Given the description of an element on the screen output the (x, y) to click on. 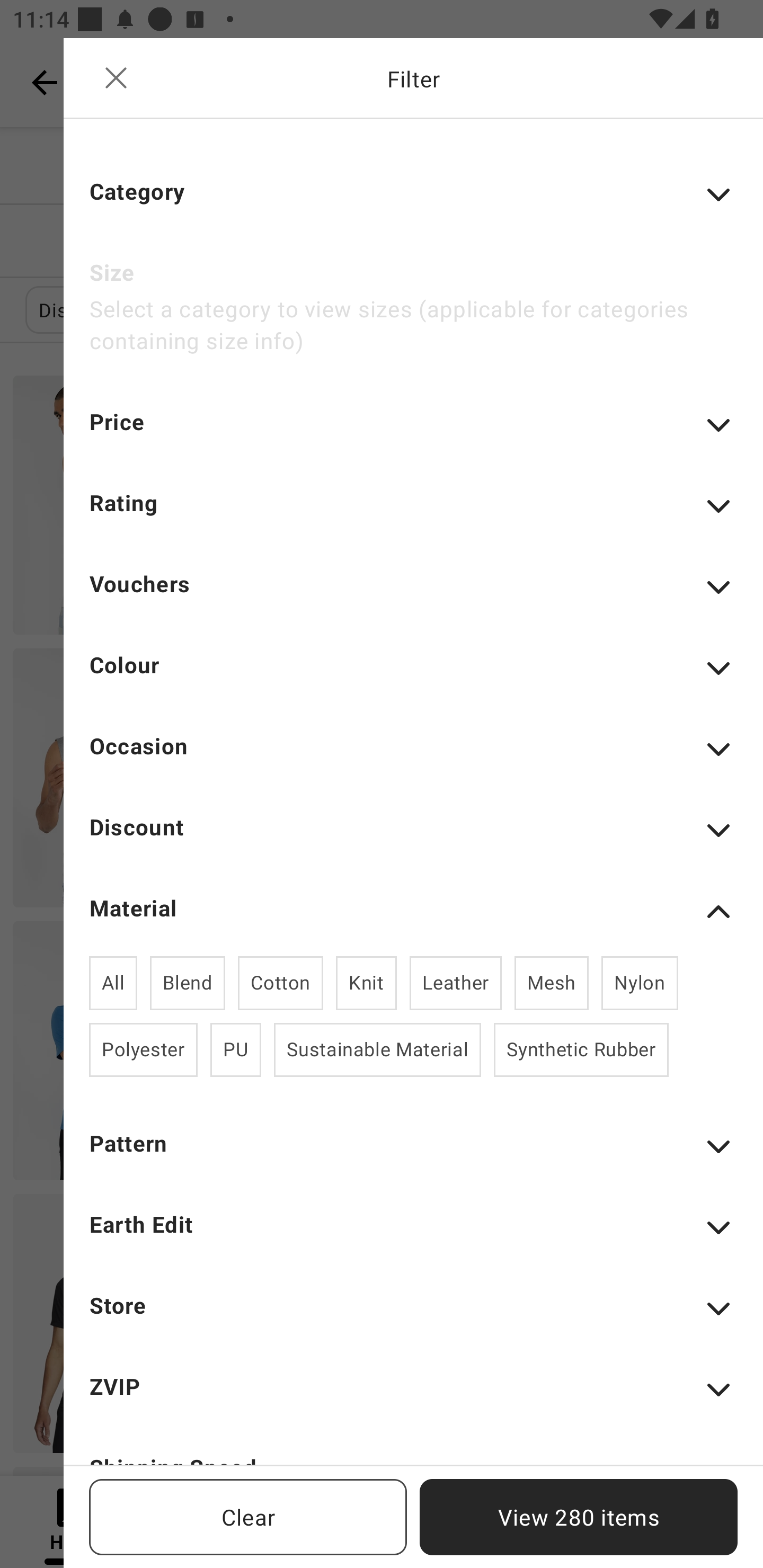
Category (413, 203)
Price (413, 434)
Rating (413, 514)
Vouchers (413, 595)
Colour (413, 677)
Occasion (413, 757)
Discount (413, 839)
Material (413, 911)
All (113, 982)
Blend (187, 982)
Cotton (280, 982)
Knit (365, 982)
Leather (455, 982)
Mesh (551, 982)
Nylon (639, 982)
Polyester (143, 1049)
PU (235, 1049)
Sustainable Material (377, 1049)
Synthetic Rubber (580, 1049)
Pattern (413, 1155)
Earth Edit (413, 1235)
Store (413, 1317)
ZVIP (413, 1398)
Clear (247, 1516)
View 280 items (578, 1516)
